Given the description of an element on the screen output the (x, y) to click on. 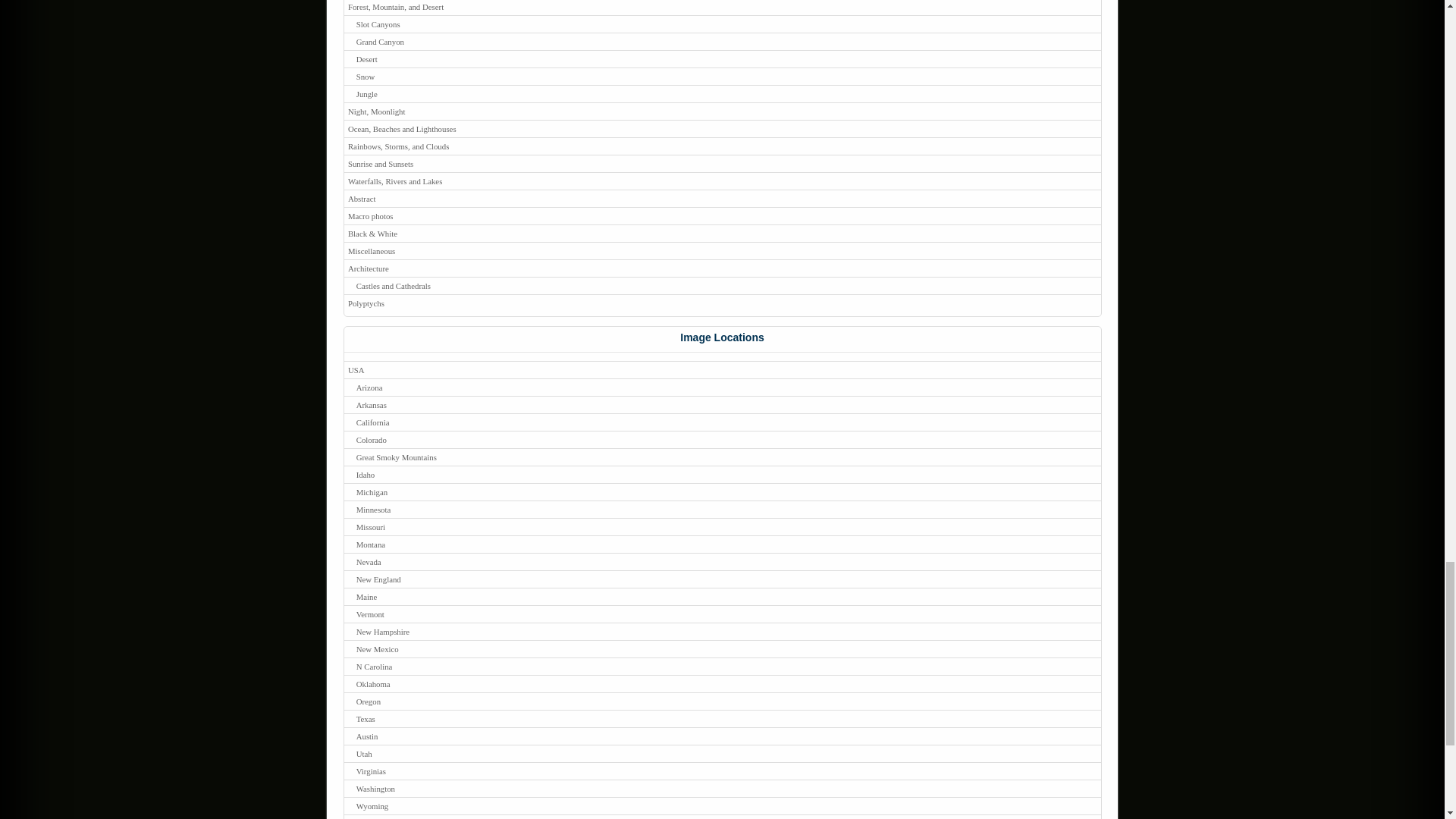
Grand Canyon (721, 40)
Slot Canyons (721, 23)
Snow (721, 76)
Jungle (721, 93)
Desert (721, 58)
Night, Moonlight (721, 110)
Forest, Mountain, and Desert (721, 7)
